Given the description of an element on the screen output the (x, y) to click on. 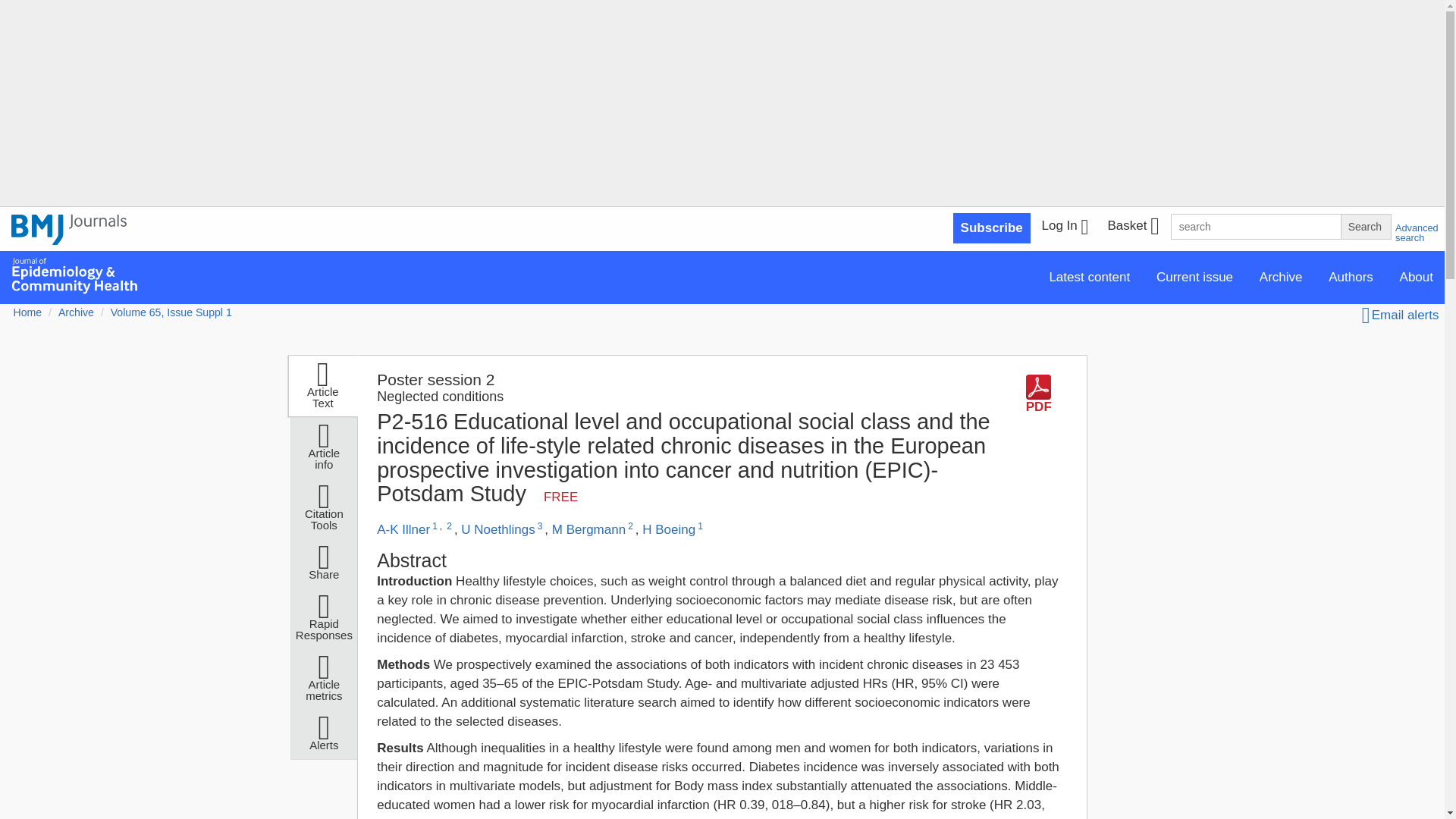
Subscribe (991, 227)
Authors (1350, 276)
You have access (560, 496)
Advanced search (1416, 232)
Archive (1280, 276)
Search (1364, 226)
Search (1364, 226)
Latest content (1088, 276)
Log In (1064, 228)
Current issue (1194, 276)
Basket (1132, 228)
BMJ Journals (68, 237)
BMJ Journals (68, 229)
